Given the description of an element on the screen output the (x, y) to click on. 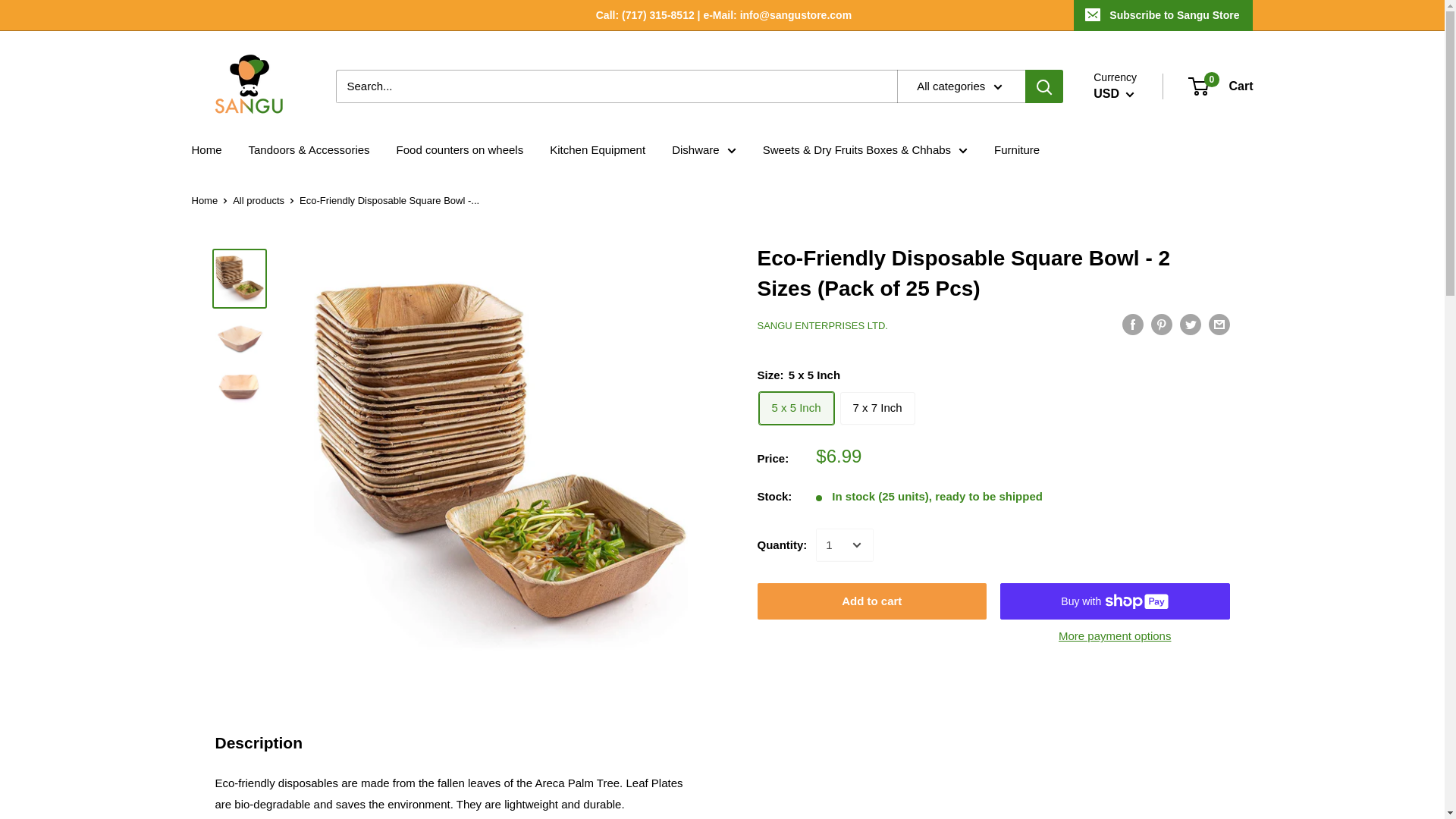
USD (1220, 86)
5 x 5 Inch (1113, 93)
7 x 7 Inch (795, 408)
Subscribe to Sangu Store (877, 408)
